Given the description of an element on the screen output the (x, y) to click on. 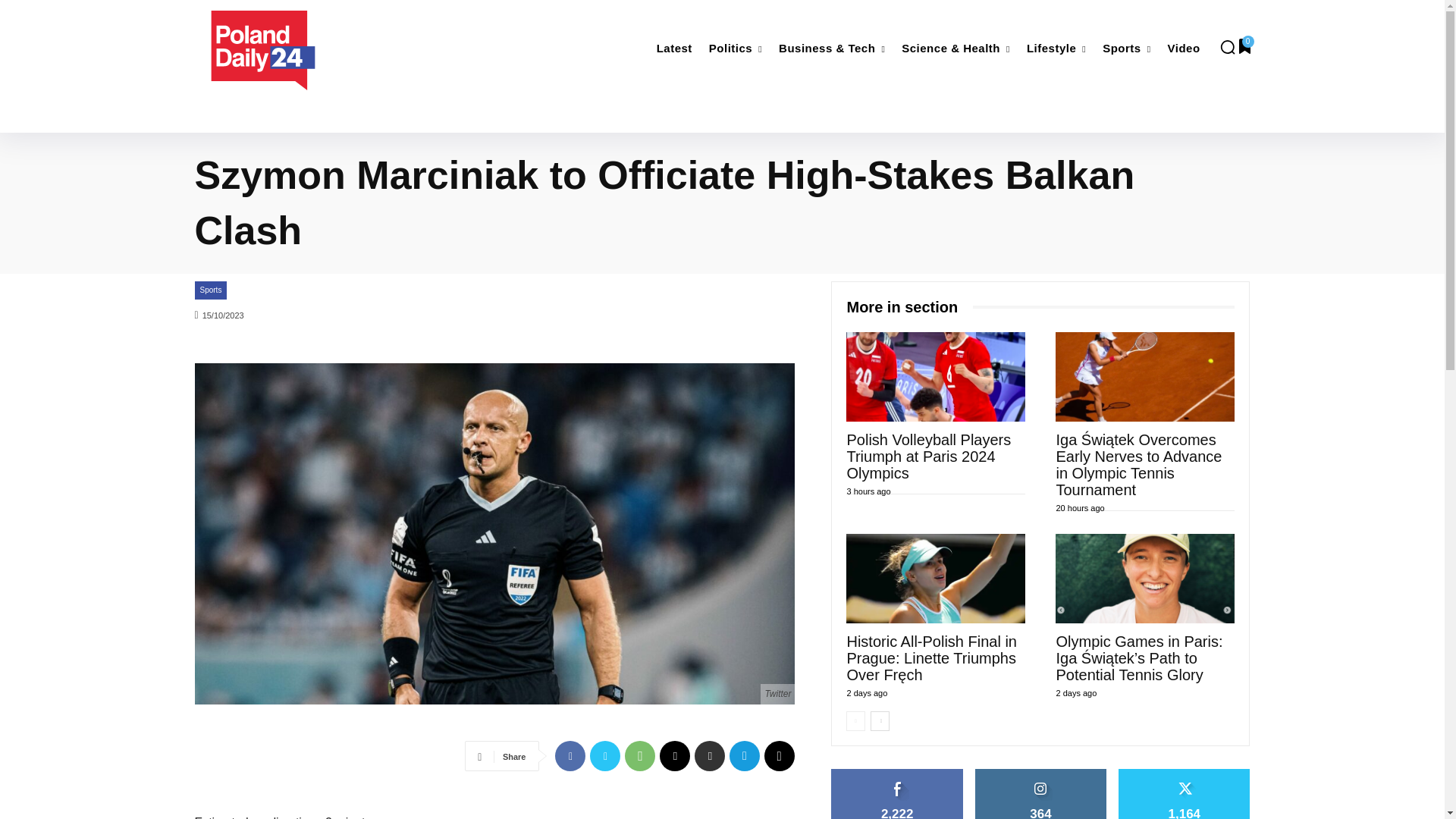
Politics (735, 48)
